Given the description of an element on the screen output the (x, y) to click on. 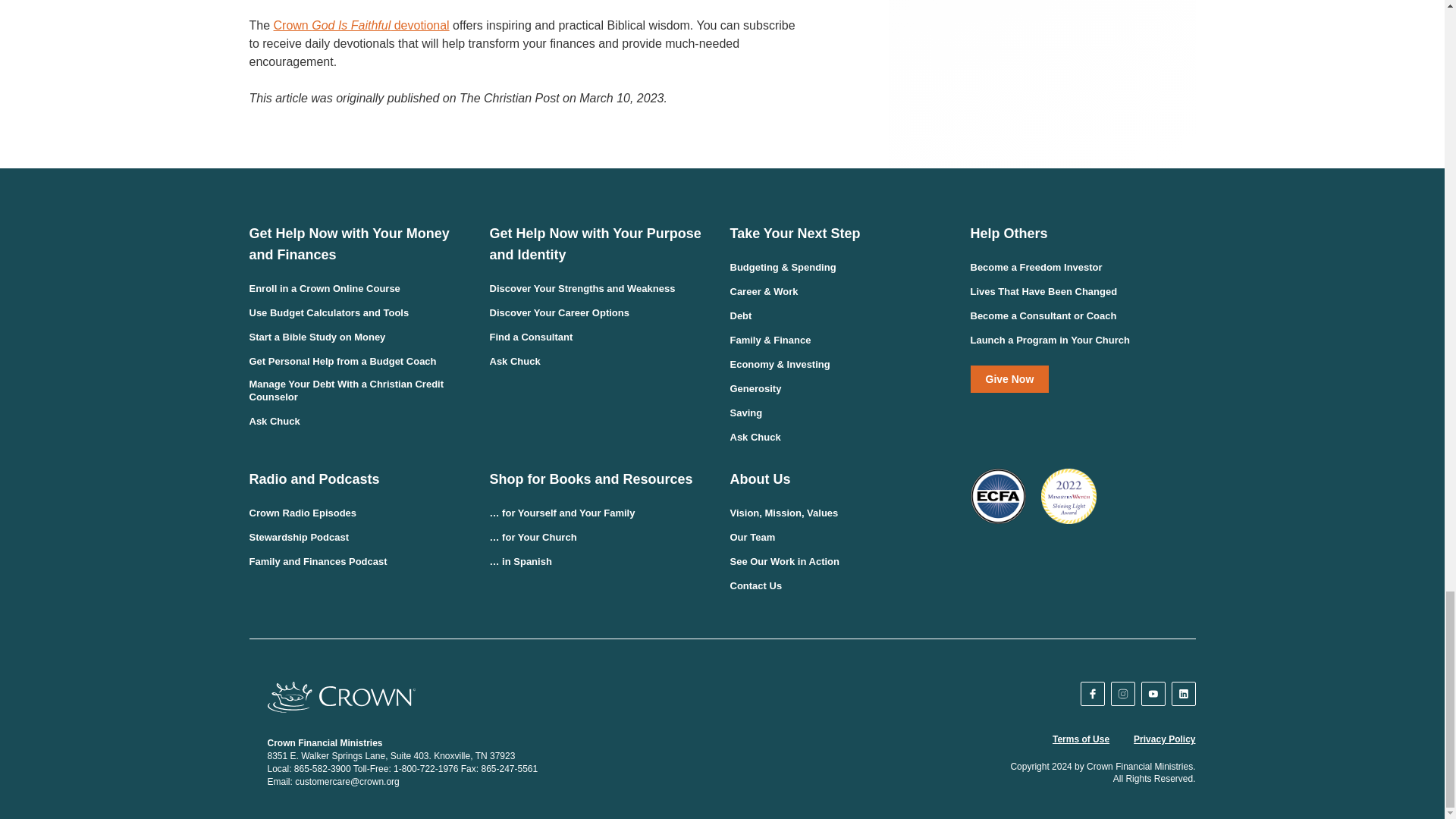
Icon Youtube (1153, 693)
Ministry Watch Shining Award 2022 (1068, 496)
Crown Logo 2021 H White 2023 (340, 696)
Ecfa Logo (998, 496)
Icon Facebook F (1092, 693)
Icon Instagram (1123, 693)
Icon Linkedin (1183, 693)
